Given the description of an element on the screen output the (x, y) to click on. 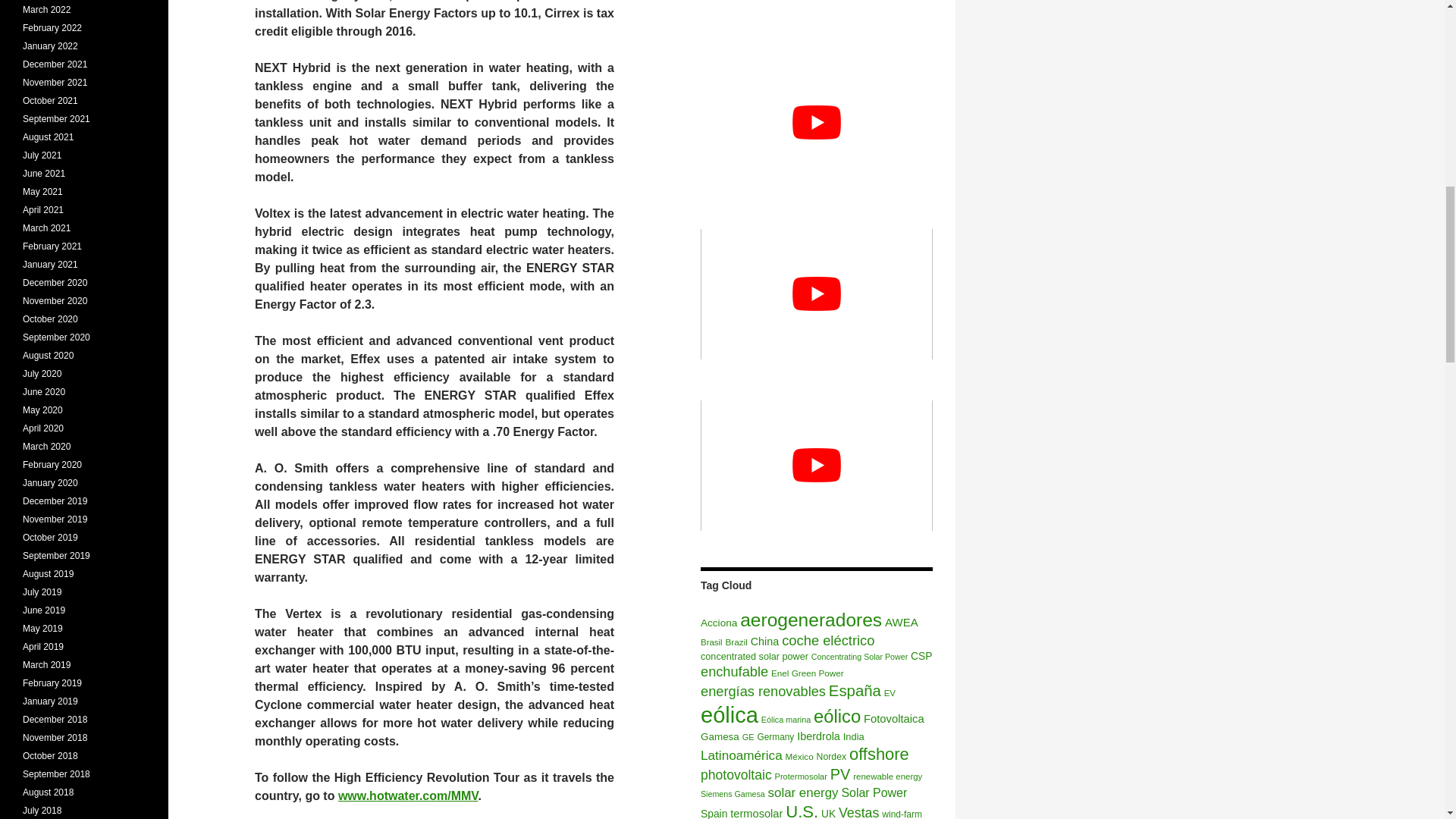
aerogeneradores (810, 619)
AWEA (901, 621)
Acciona (718, 622)
